Given the description of an element on the screen output the (x, y) to click on. 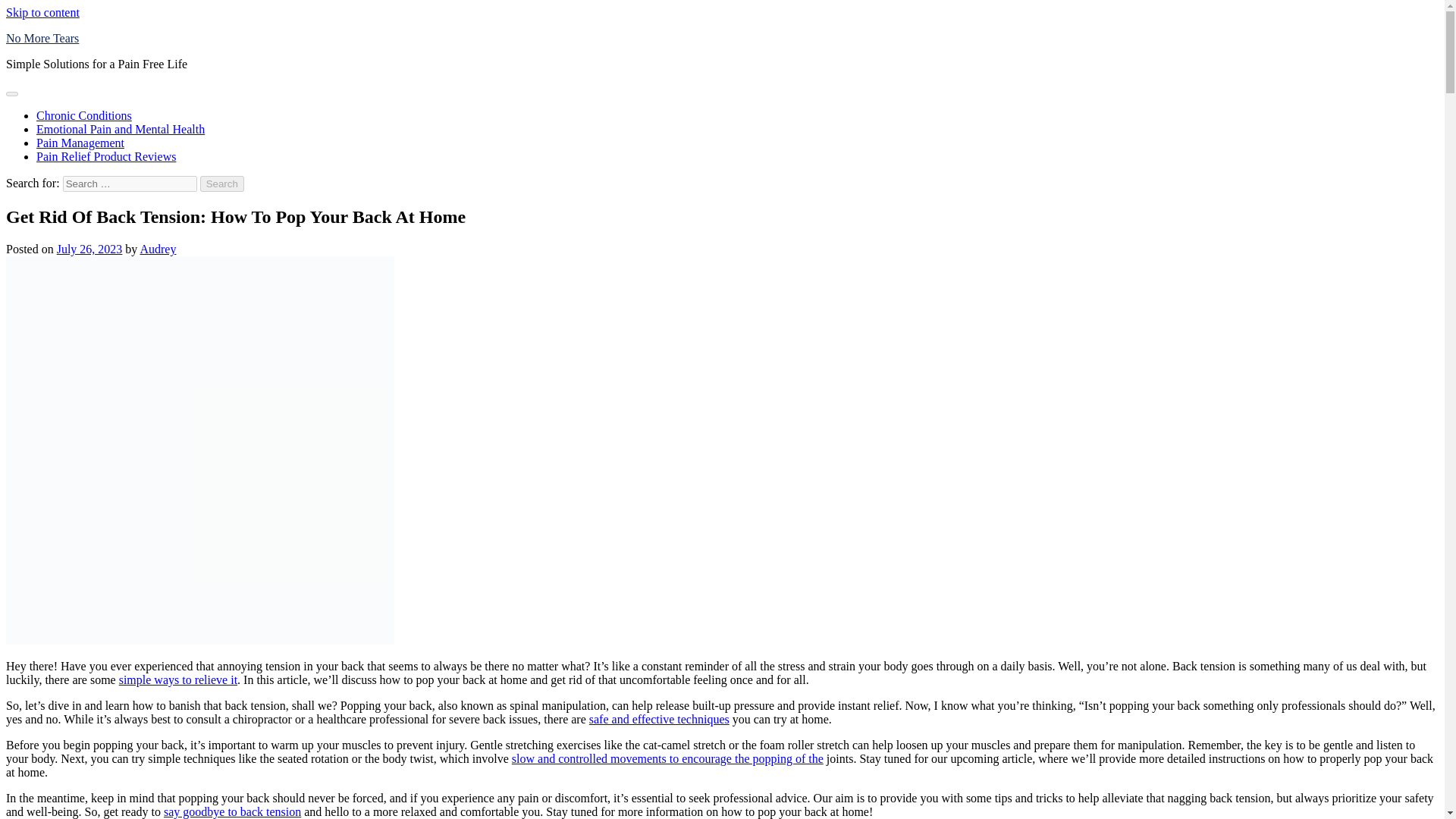
Emotional Pain and Mental Health (120, 128)
Skip to content (42, 11)
say goodbye to back tension (232, 811)
Search (222, 183)
Audrey (157, 248)
Pain Management (79, 142)
July 26, 2023 (89, 248)
simple ways to relieve it (178, 679)
Pain Relief Product Reviews (106, 155)
Search (222, 183)
safe and effective techniques (659, 718)
Search (222, 183)
No More Tears (41, 38)
Chronic Conditions (84, 115)
